Given the description of an element on the screen output the (x, y) to click on. 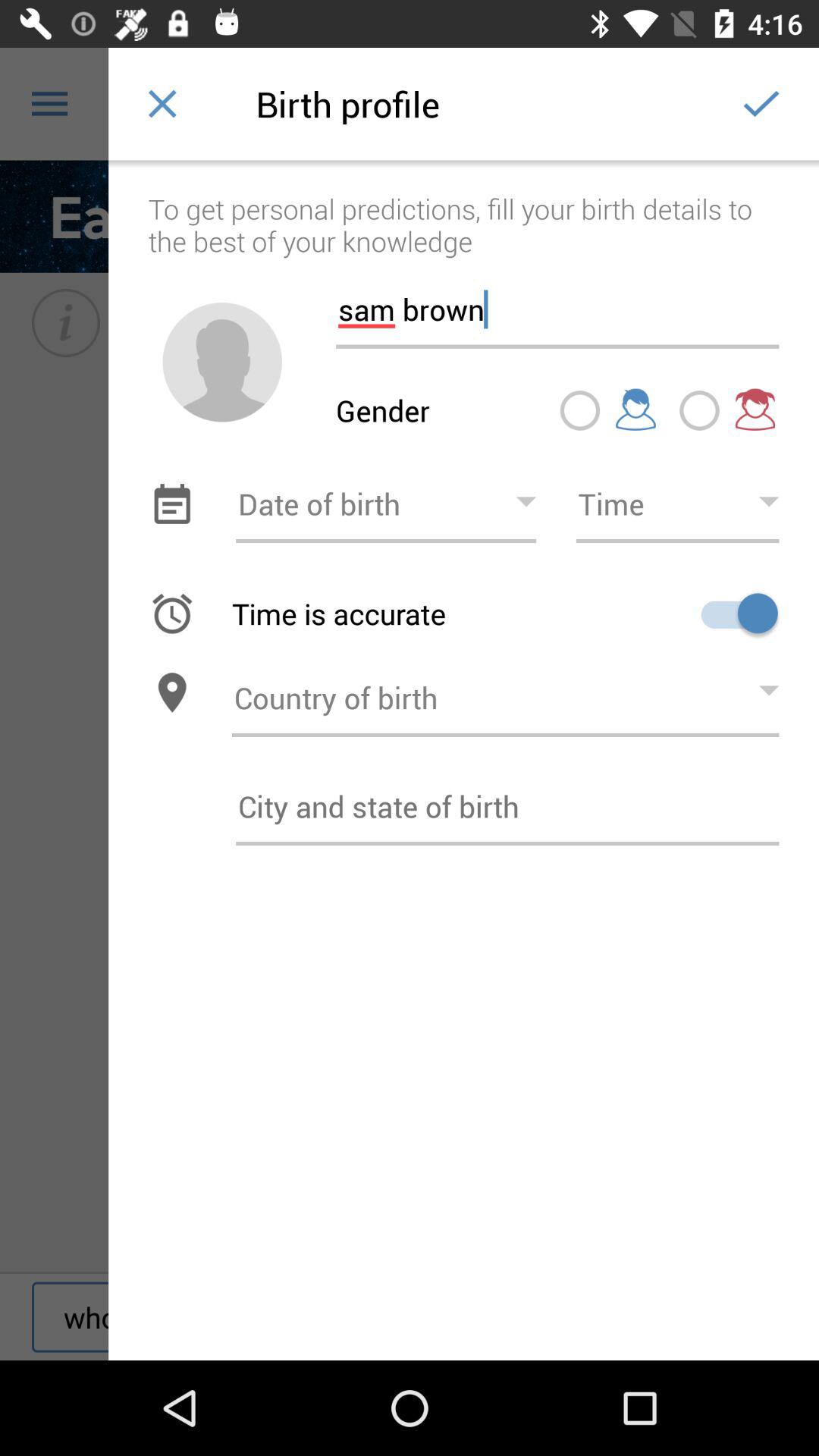
select button (580, 410)
